Given the description of an element on the screen output the (x, y) to click on. 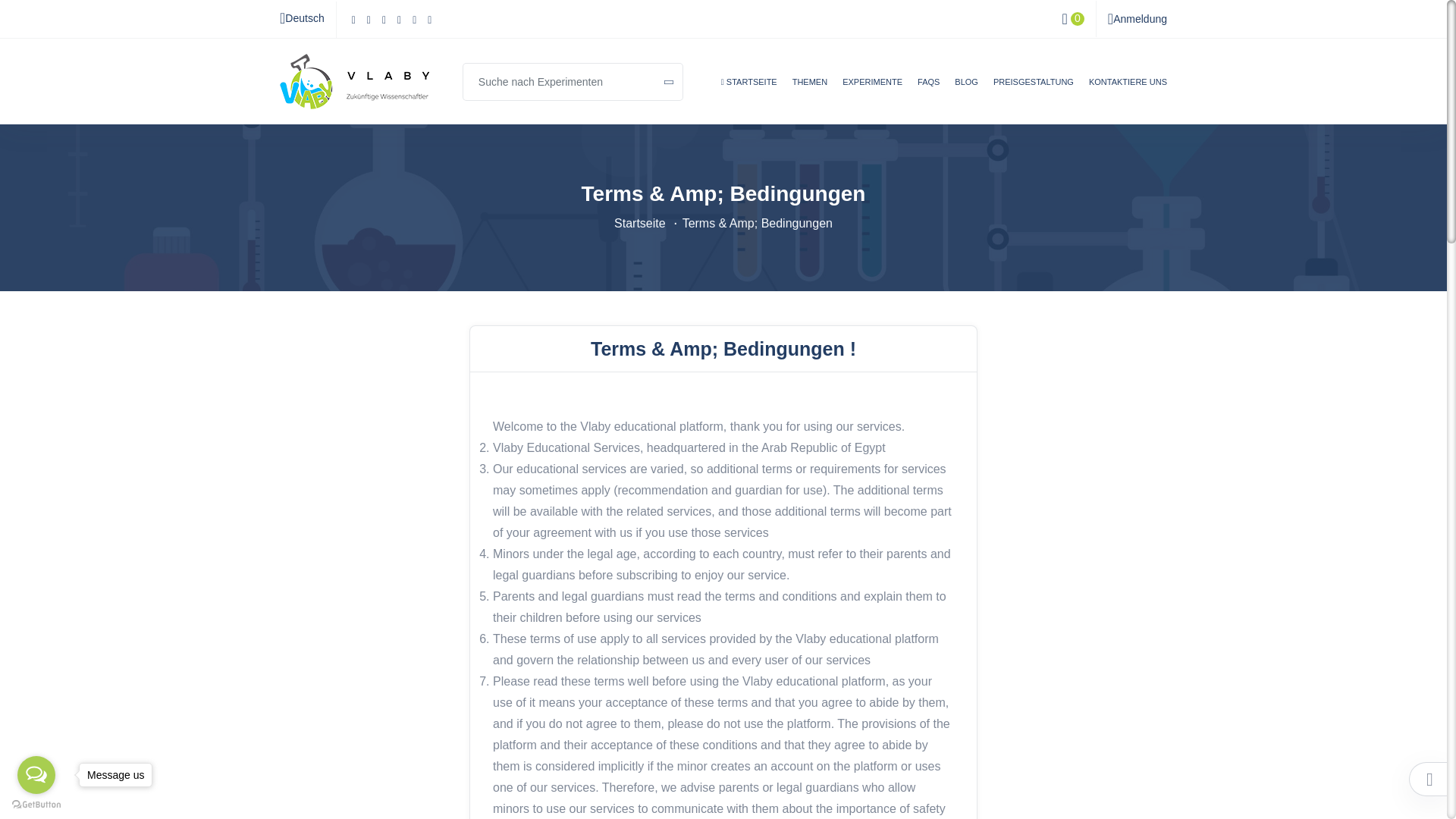
EXPERIMENTE (872, 93)
STARTSEITE (748, 93)
PREISGESTALTUNG (1033, 93)
Startseite (639, 223)
FAQS (928, 93)
THEMEN (809, 93)
Go top (1429, 779)
BLOG (966, 93)
KONTAKTIERE UNS (1128, 93)
